Given the description of an element on the screen output the (x, y) to click on. 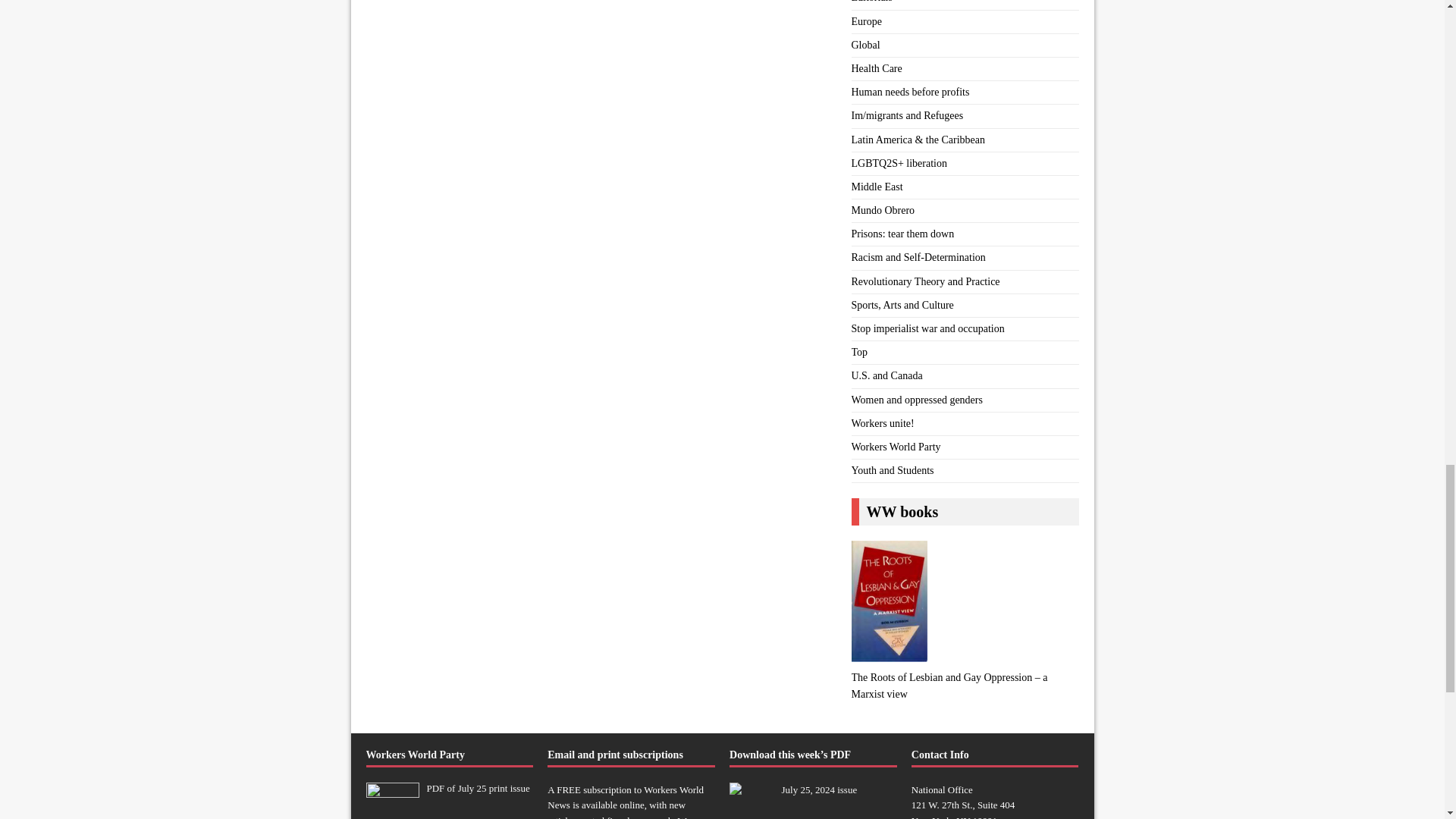
PDF of July 25 print issue (392, 813)
PDF of July 25 print issue (477, 787)
